Given the description of an element on the screen output the (x, y) to click on. 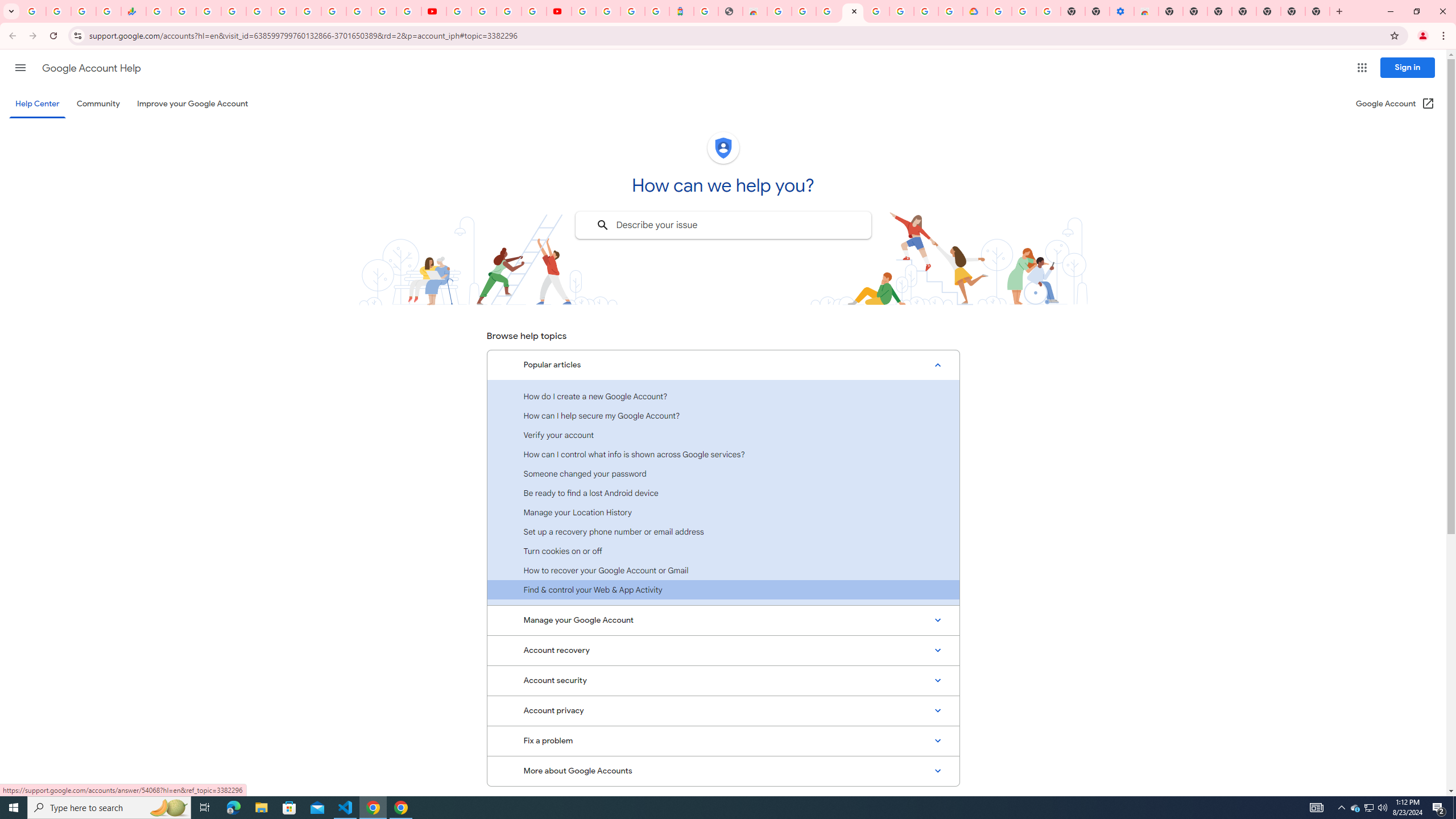
How can I control what info is shown across Google services? (722, 454)
Popular articles, Expanded list with 11 items (722, 365)
Privacy Checkup (408, 11)
Account security (722, 680)
Create your Google Account (509, 11)
How can I help secure my Google Account? (722, 415)
